Given the description of an element on the screen output the (x, y) to click on. 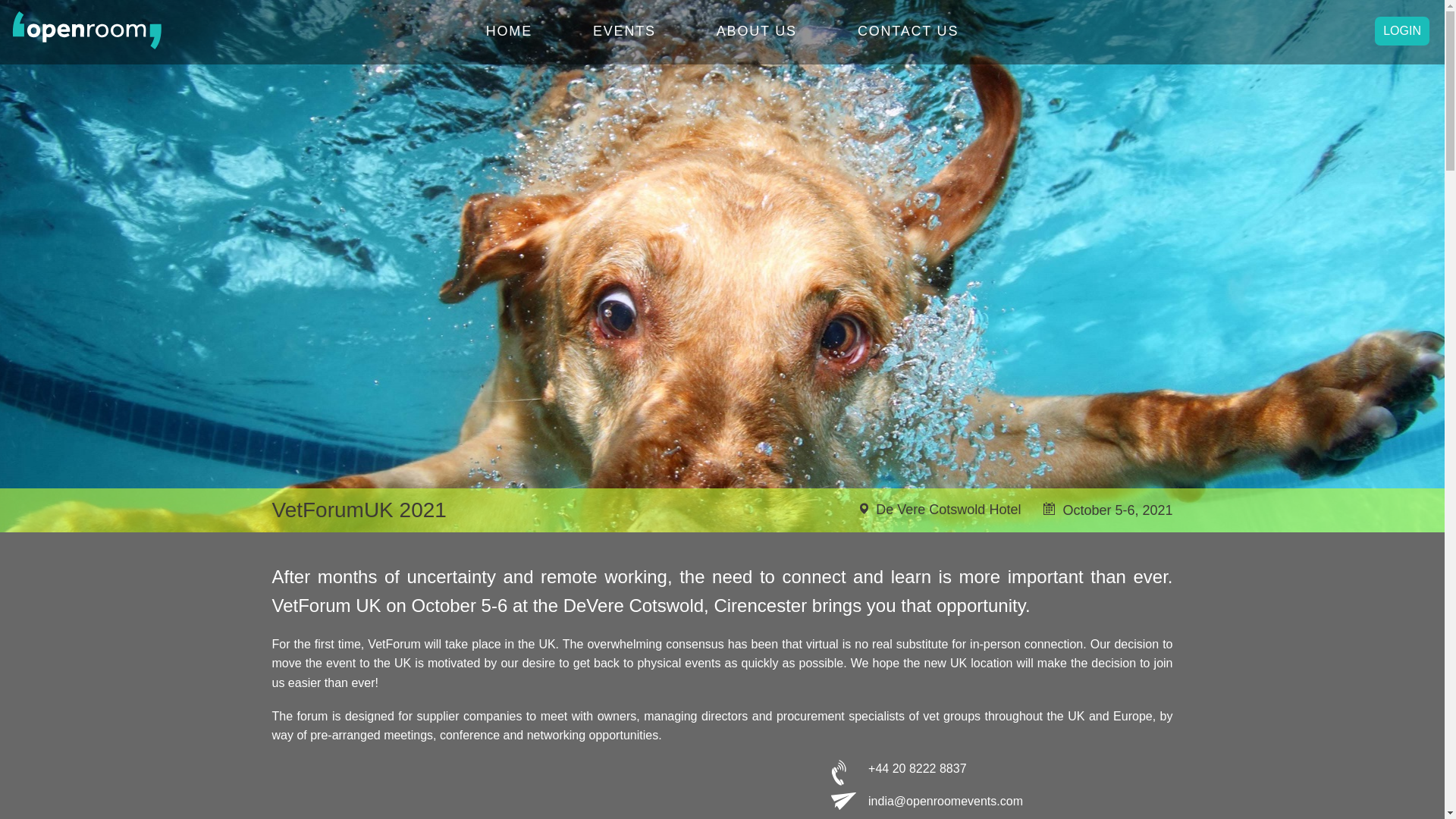
HOME (509, 34)
EVENTS (624, 34)
LOGIN (1401, 30)
CONTACT US (907, 34)
ABOUT US (756, 34)
